Given the description of an element on the screen output the (x, y) to click on. 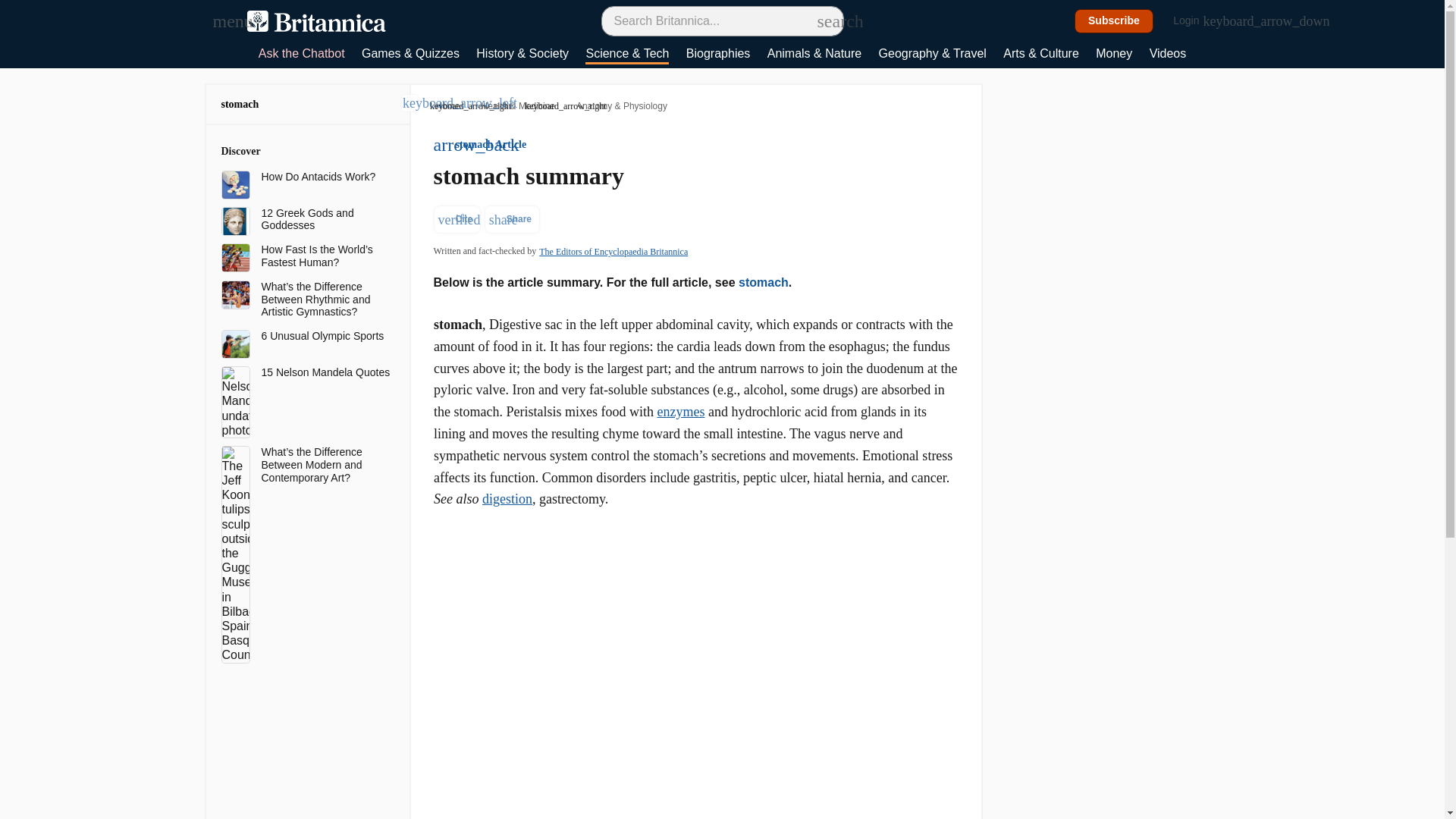
15 Nelson Mandela Quotes (325, 372)
Biographies (718, 54)
Subscribe (1114, 21)
stomach (240, 103)
Videos (1168, 54)
Home (447, 106)
Ask the Chatbot (302, 54)
Money (1114, 54)
Click here to search (825, 20)
6 Unusual Olympic Sports (325, 336)
12 Greek Gods and Goddesses (325, 219)
How Do Antacids Work? (325, 176)
Login (1194, 20)
